Given the description of an element on the screen output the (x, y) to click on. 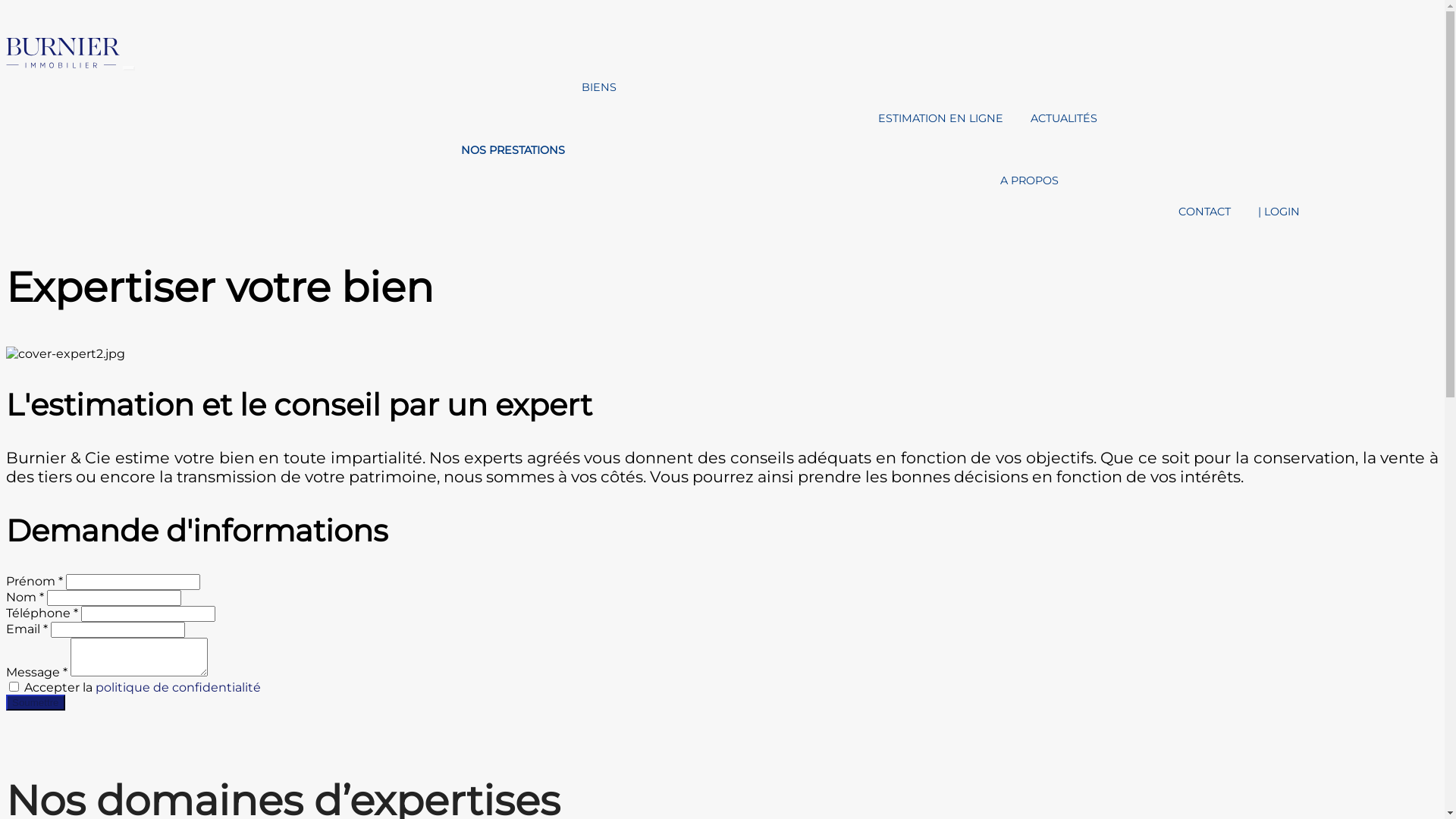
NOS PRESTATIONS Element type: text (512, 150)
BIENS Element type: text (598, 87)
A PROPOS Element type: text (1028, 180)
CONTACT Element type: text (1204, 211)
Soumettre Element type: text (35, 702)
ESTIMATION EN LIGNE Element type: text (940, 118)
| LOGIN Element type: text (1278, 211)
